Given the description of an element on the screen output the (x, y) to click on. 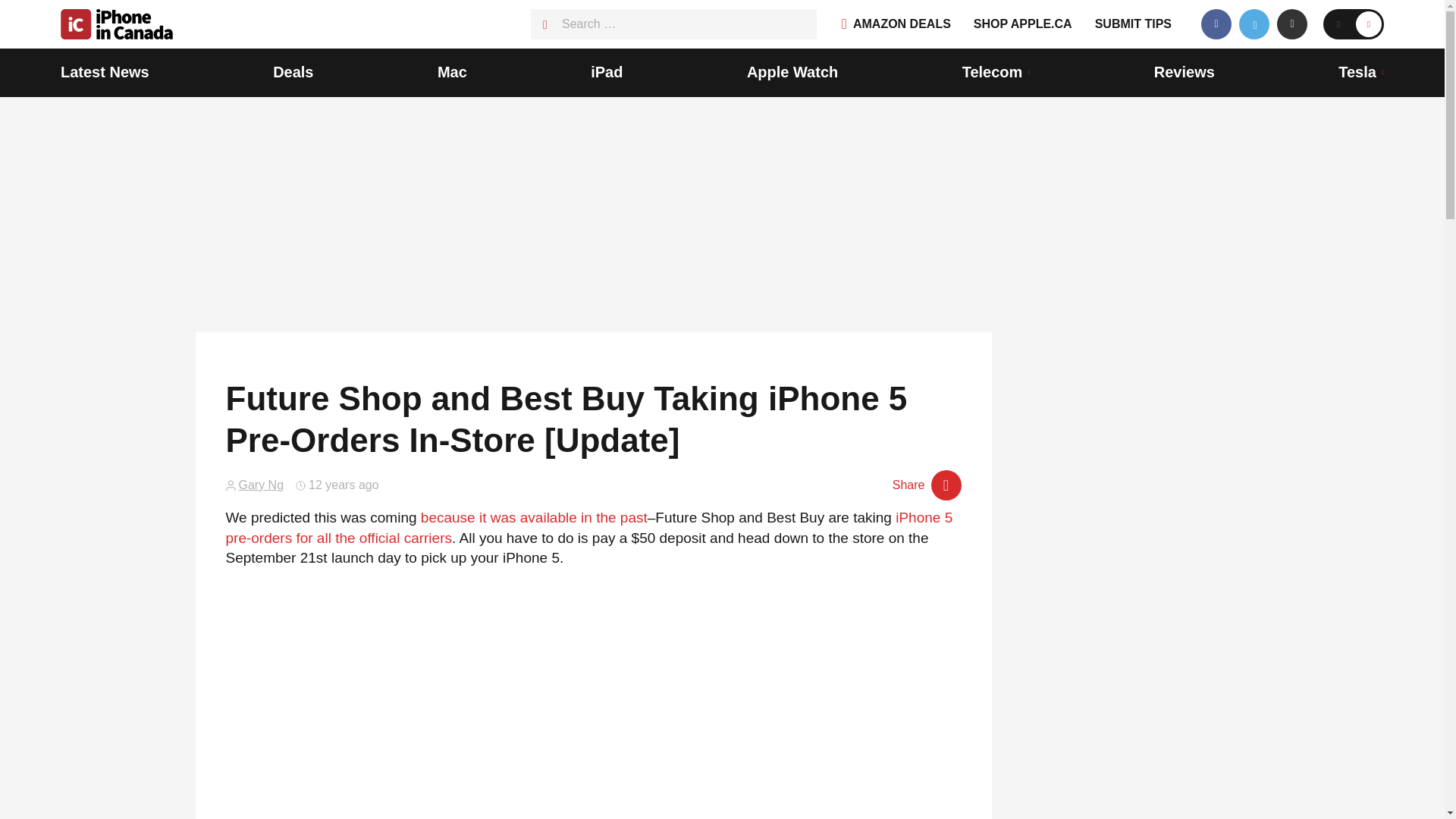
Apple Watch (792, 72)
Share (926, 485)
AMAZON DEALS (895, 23)
because it was (468, 517)
Search for: (673, 24)
Gary Ng (260, 484)
Latest News (105, 72)
SHOP APPLE.CA (1022, 23)
iPhone 5 pre-orders for all the official carriers (589, 527)
SUBMIT TIPS (1133, 23)
